Given the description of an element on the screen output the (x, y) to click on. 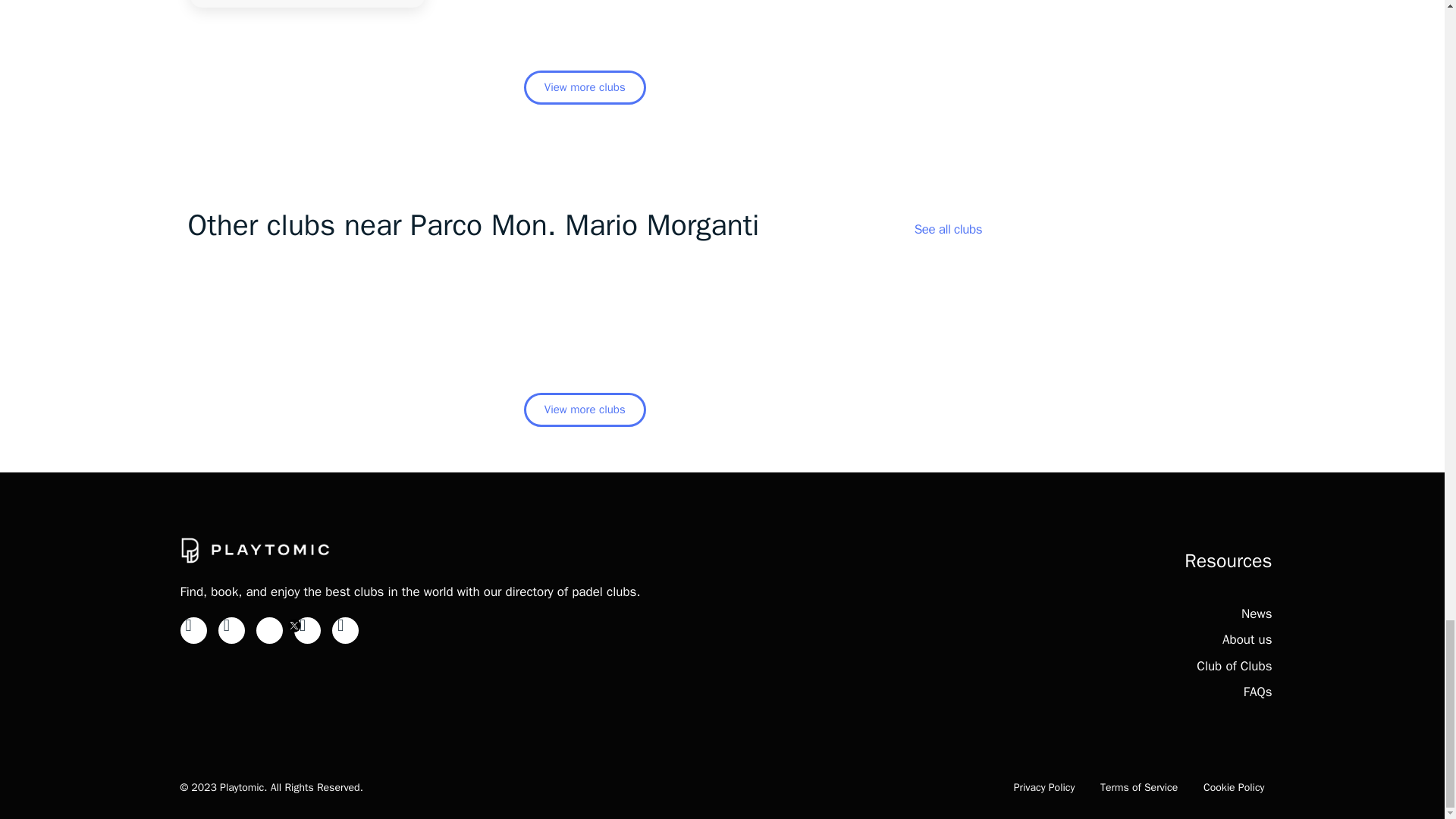
View more clubs (585, 87)
About us (1247, 639)
Privacy Policy (1044, 787)
Club of Clubs (1233, 666)
FAQs (1257, 691)
Terms of Service (1138, 787)
Cookie Policy (1234, 787)
See all clubs (947, 229)
View more clubs (585, 409)
News (1256, 613)
